Given the description of an element on the screen output the (x, y) to click on. 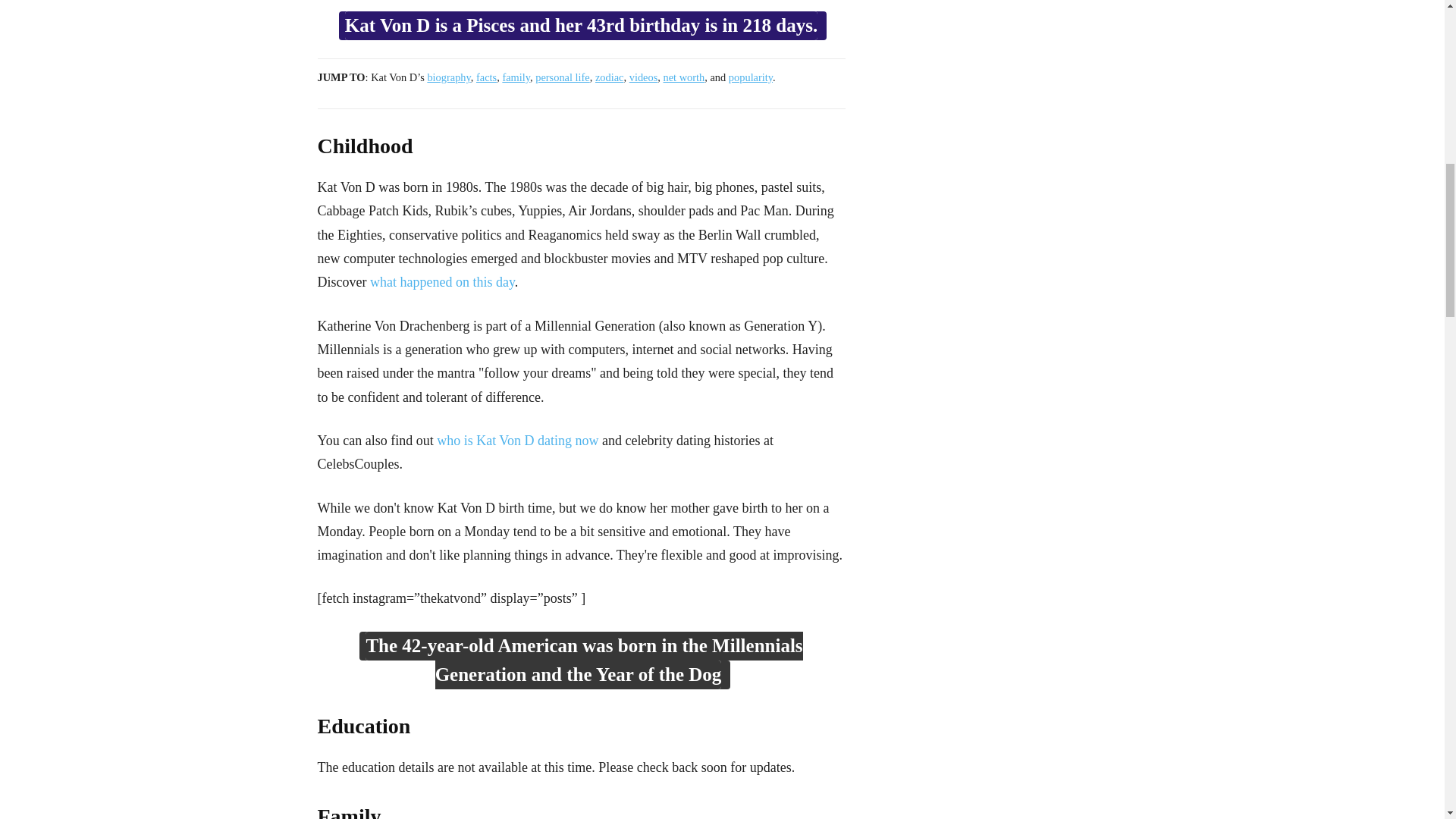
personal life (562, 77)
net worth (683, 77)
facts (486, 77)
popularity (751, 77)
biography (448, 77)
family (515, 77)
who is Kat Von D dating now (517, 440)
what happened on this day (442, 281)
zodiac (609, 77)
videos (643, 77)
